Given the description of an element on the screen output the (x, y) to click on. 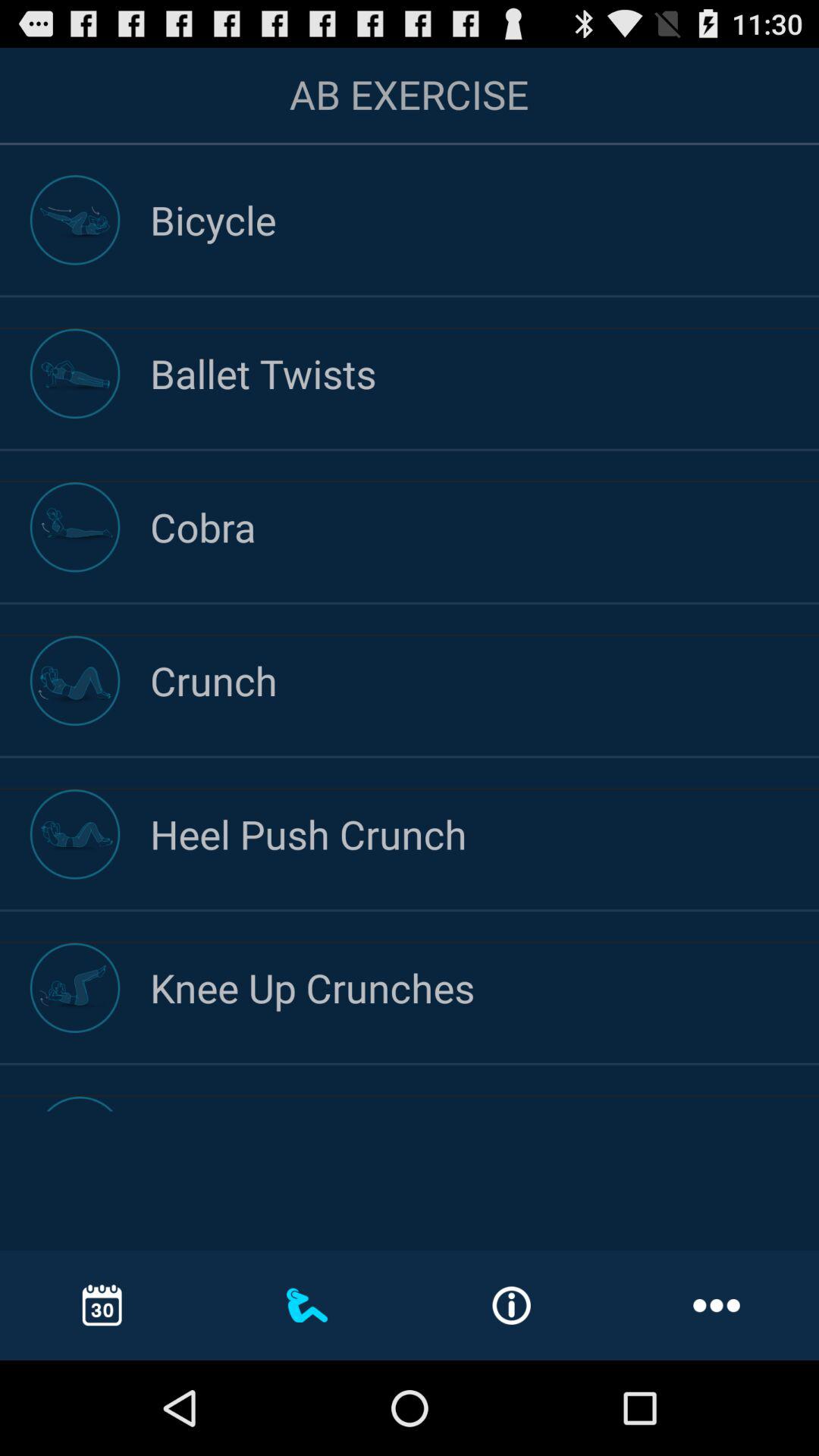
flip until the bicycle (484, 219)
